Given the description of an element on the screen output the (x, y) to click on. 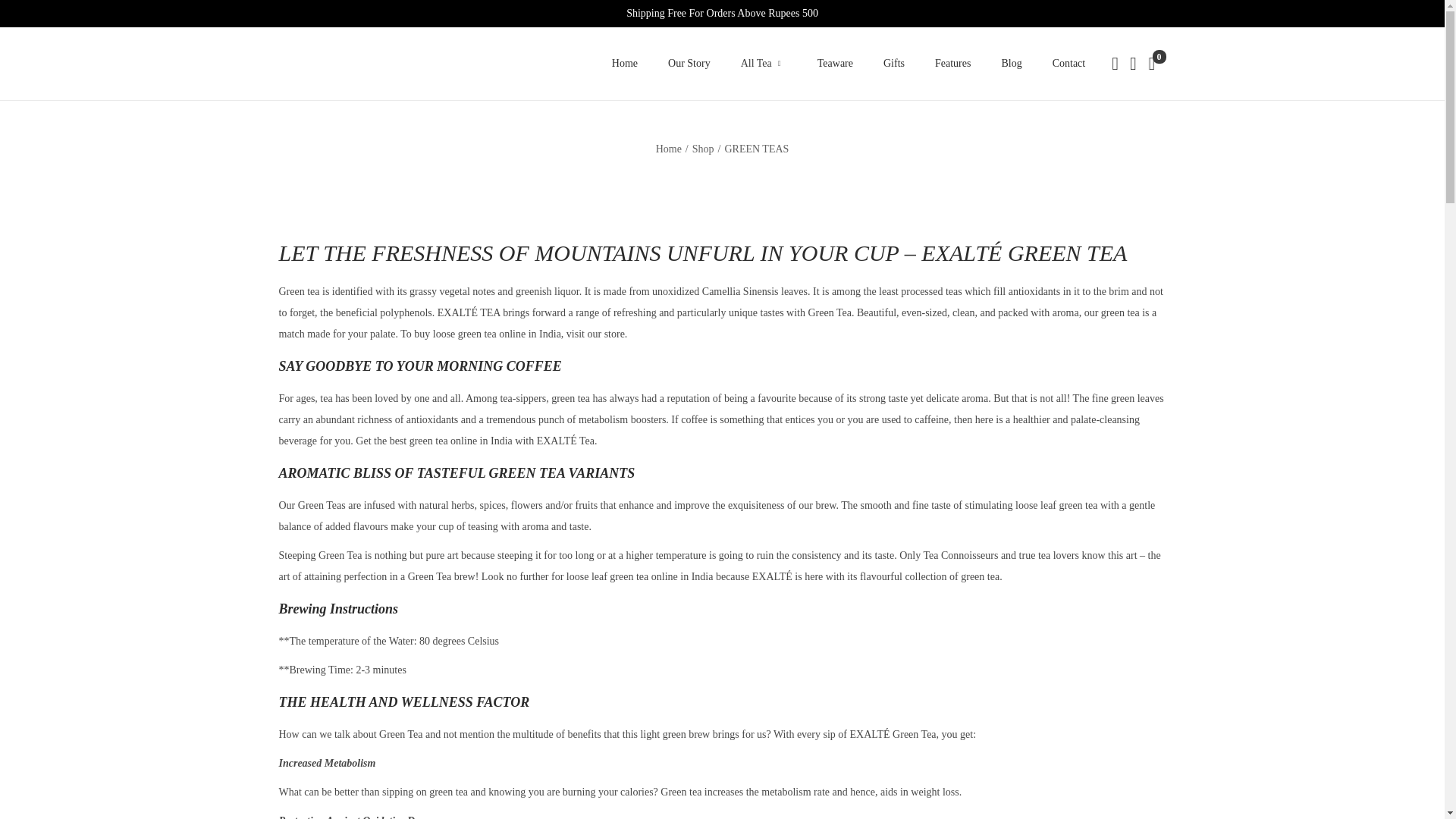
Shop (703, 148)
Home (668, 148)
